Given the description of an element on the screen output the (x, y) to click on. 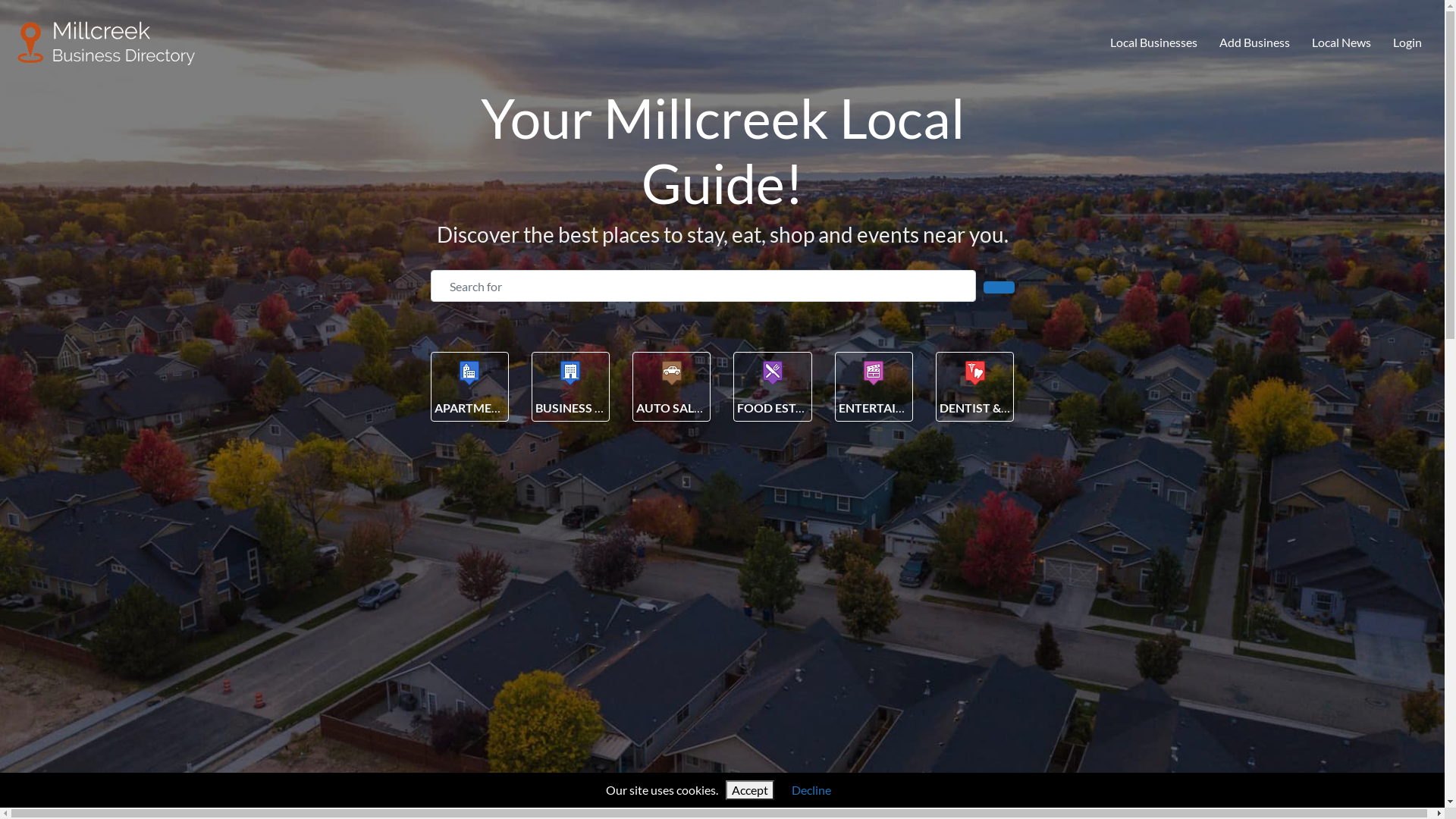
Millcreek Business Directory Element type: hover (106, 40)
ENTERTAINMENT Element type: text (888, 407)
AUTO SALES & SERVICE Element type: text (702, 407)
BUSINESS SERVICE Element type: text (589, 407)
Add Business Element type: text (1254, 42)
FOOD ESTABLISHMENT Element type: text (804, 407)
Accept Element type: text (749, 790)
Search Element type: text (998, 287)
Local Businesses Element type: text (1153, 42)
APARTMENTS Element type: text (473, 407)
Login Element type: text (1406, 42)
DENTIST & ORTHODONTIST Element type: text (1020, 407)
Decline Element type: text (811, 789)
Local News Element type: text (1340, 42)
